Given the description of an element on the screen output the (x, y) to click on. 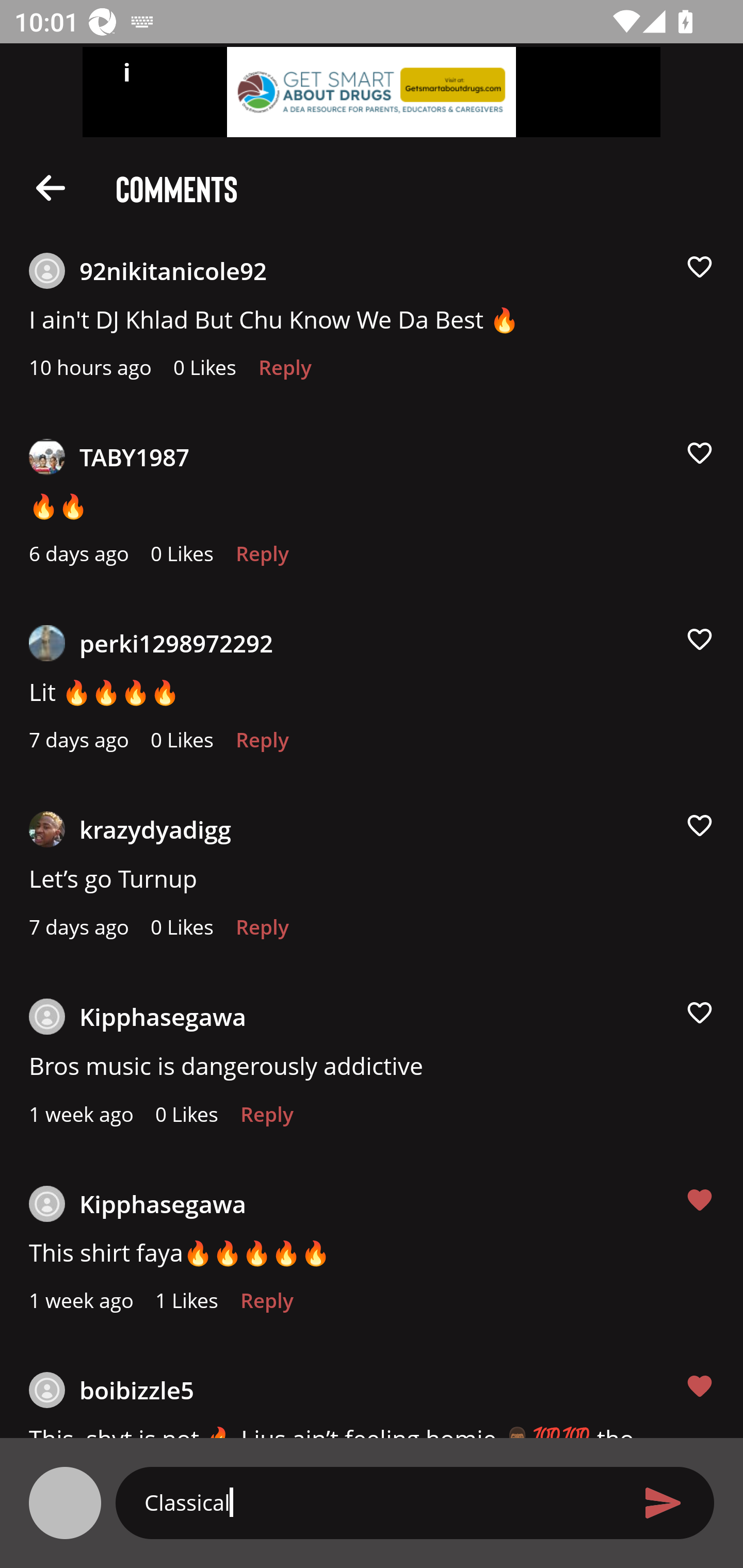
Description (50, 187)
Reply (285, 372)
Reply (261, 558)
Reply (261, 744)
Reply (261, 932)
Reply (266, 1119)
Reply (266, 1305)
Classical (378, 1502)
